Given the description of an element on the screen output the (x, y) to click on. 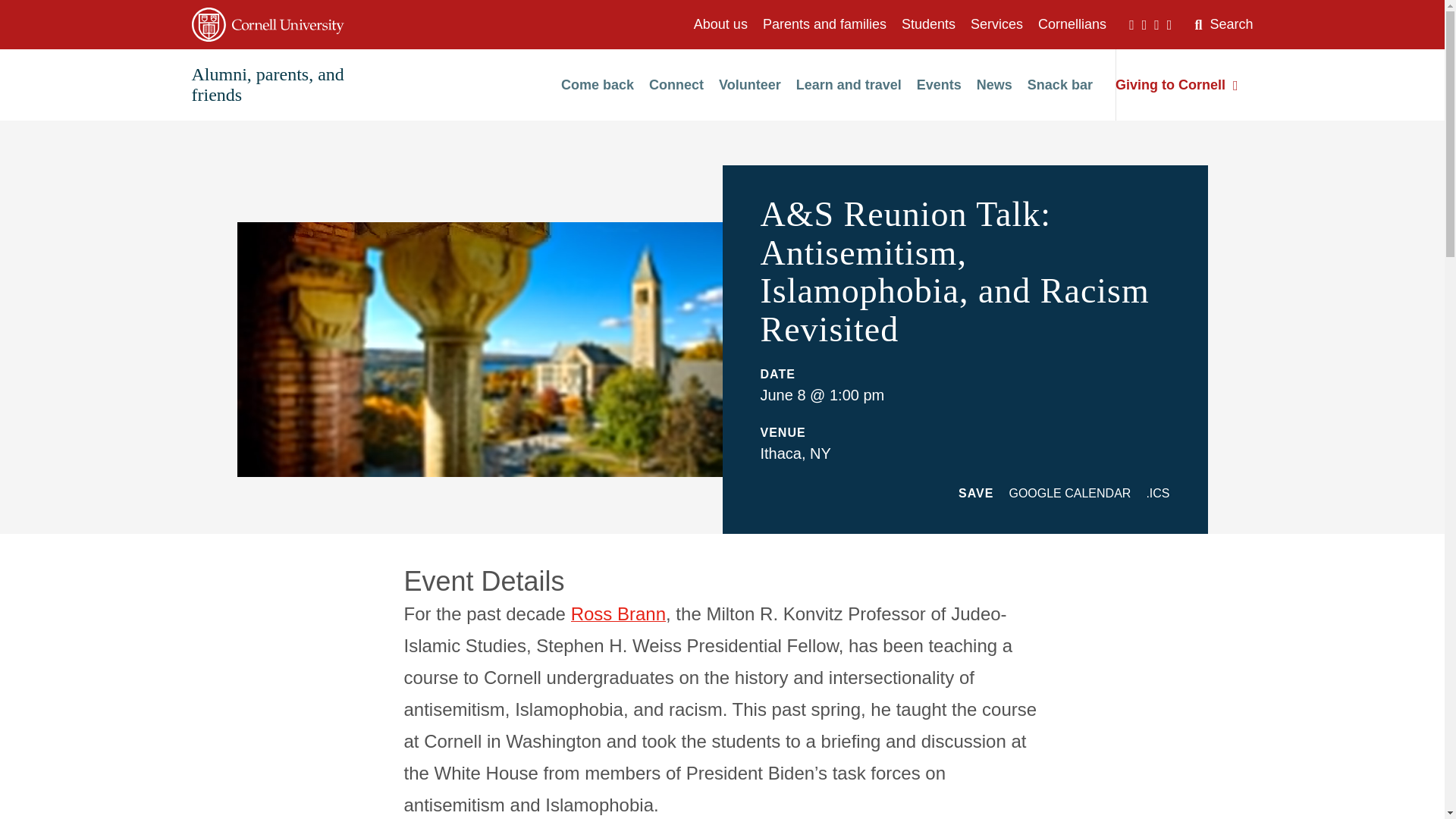
News (993, 84)
Parents and families (824, 23)
Volunteer (749, 84)
Come back (596, 84)
Students (928, 23)
Ross Brann (617, 613)
Giving to Cornell (1177, 85)
Alumni, parents, and friends (266, 84)
Snack bar (1060, 84)
Services (997, 23)
